Given the description of an element on the screen output the (x, y) to click on. 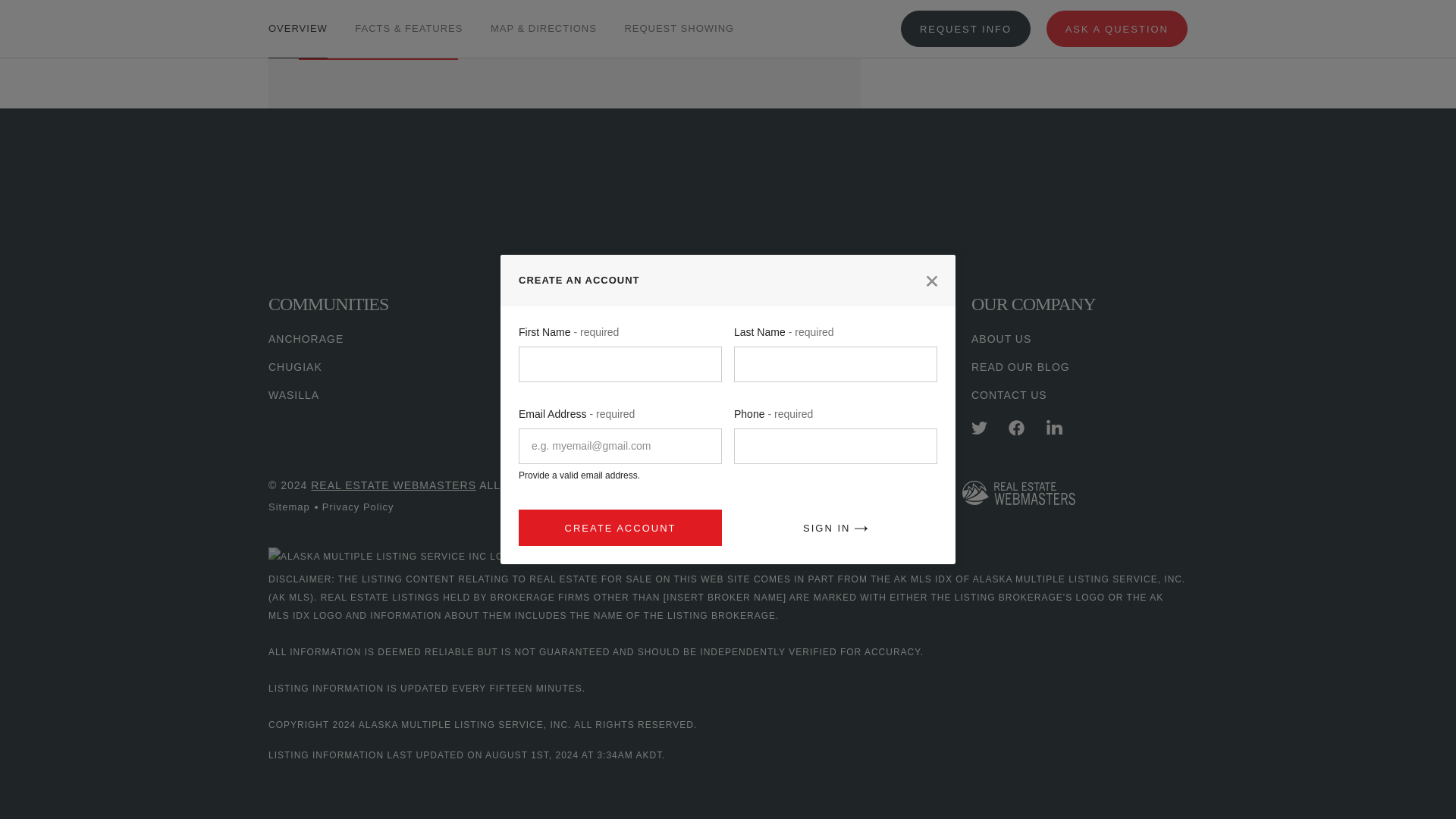
FACEBOOK (1017, 427)
TWITTER (979, 427)
LINKEDIN (1054, 427)
